Given the description of an element on the screen output the (x, y) to click on. 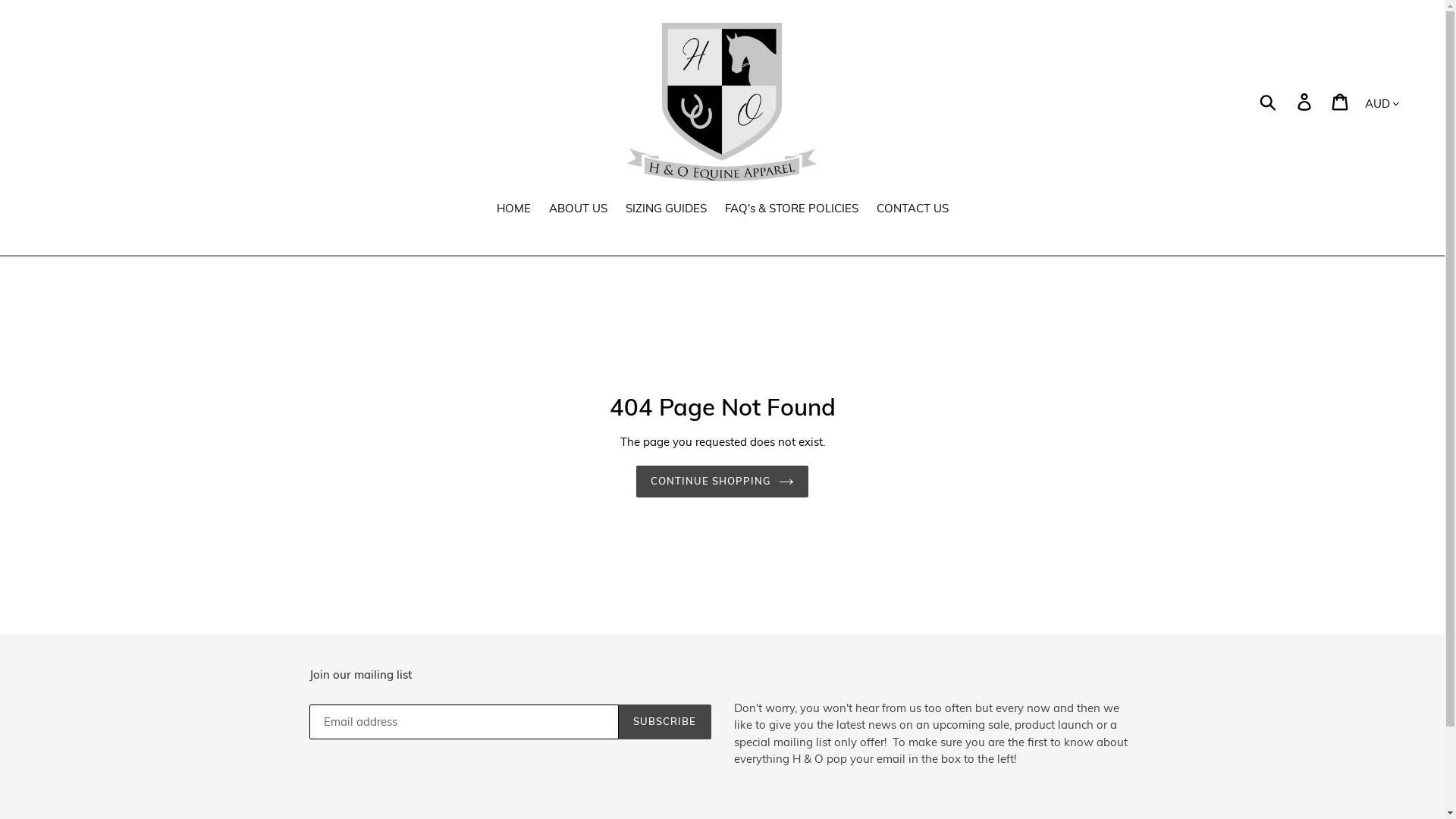
Log in Element type: text (1305, 102)
SIZING GUIDES Element type: text (665, 209)
Cart Element type: text (1340, 102)
HOME Element type: text (512, 209)
Submit Element type: text (1268, 102)
SUBSCRIBE Element type: text (664, 721)
CONTINUE SHOPPING Element type: text (722, 481)
ABOUT US Element type: text (578, 209)
CONTACT US Element type: text (912, 209)
FAQ's & STORE POLICIES Element type: text (791, 209)
